Given the description of an element on the screen output the (x, y) to click on. 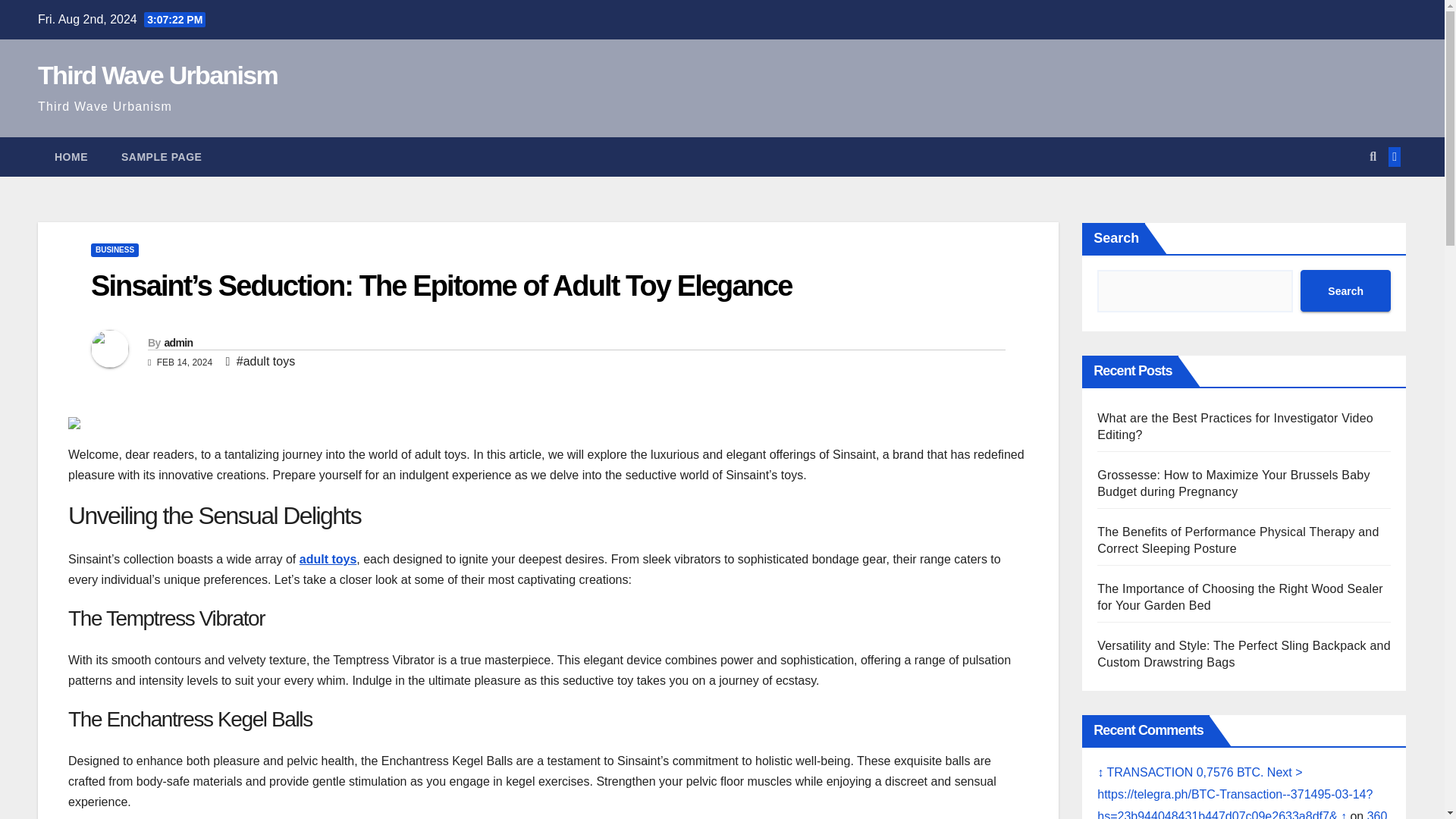
BUSINESS (114, 250)
SAMPLE PAGE (161, 156)
HOME (70, 156)
Home (70, 156)
Third Wave Urbanism (157, 74)
adult toys (327, 558)
admin (177, 342)
